Given the description of an element on the screen output the (x, y) to click on. 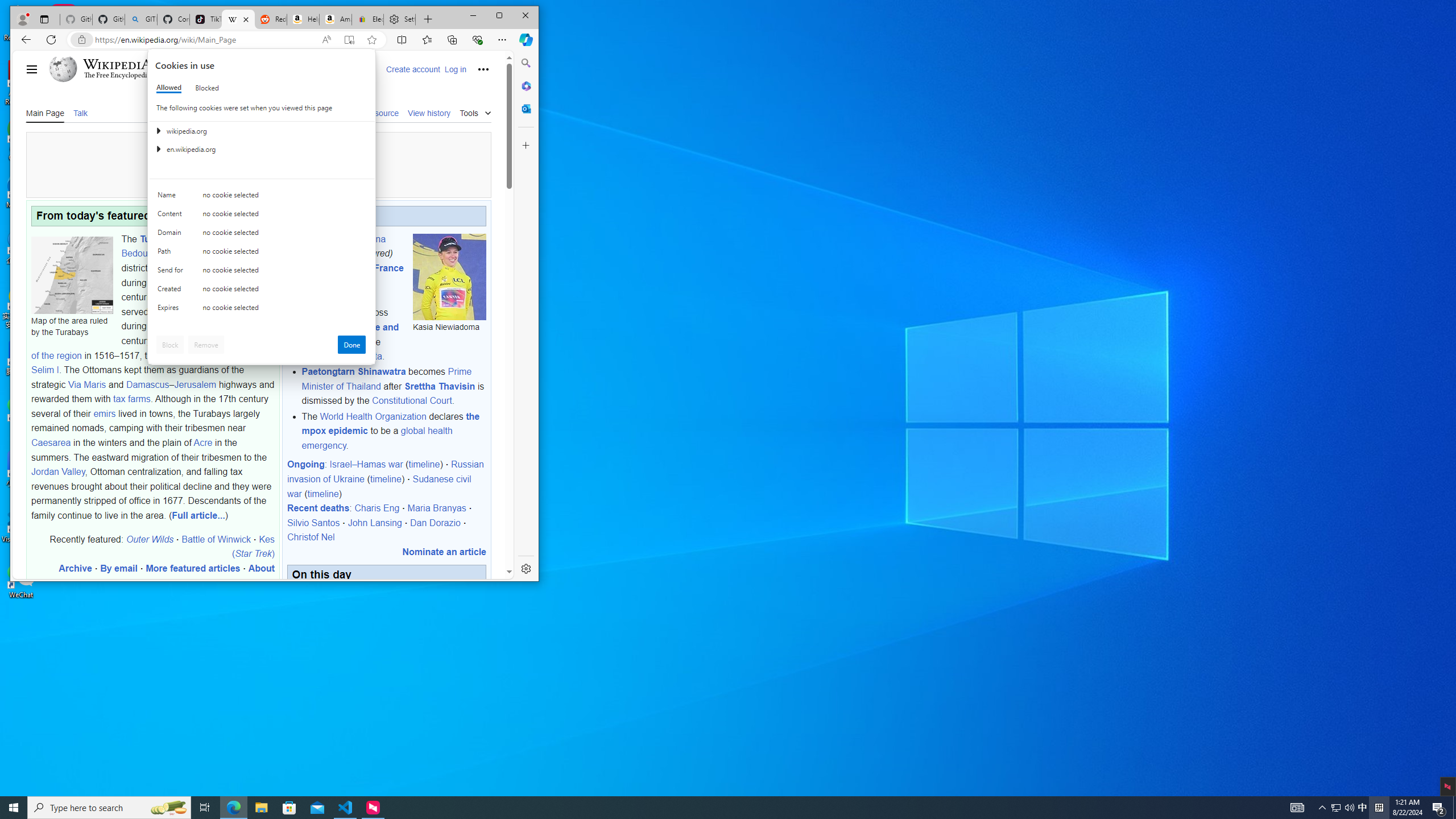
Q2790: 100% (1349, 807)
Notification Chevron (1322, 807)
Domain (172, 235)
Class: c0153 c0157 (261, 309)
Visual Studio Code - 1 running window (345, 807)
Allowed (169, 87)
